Given the description of an element on the screen output the (x, y) to click on. 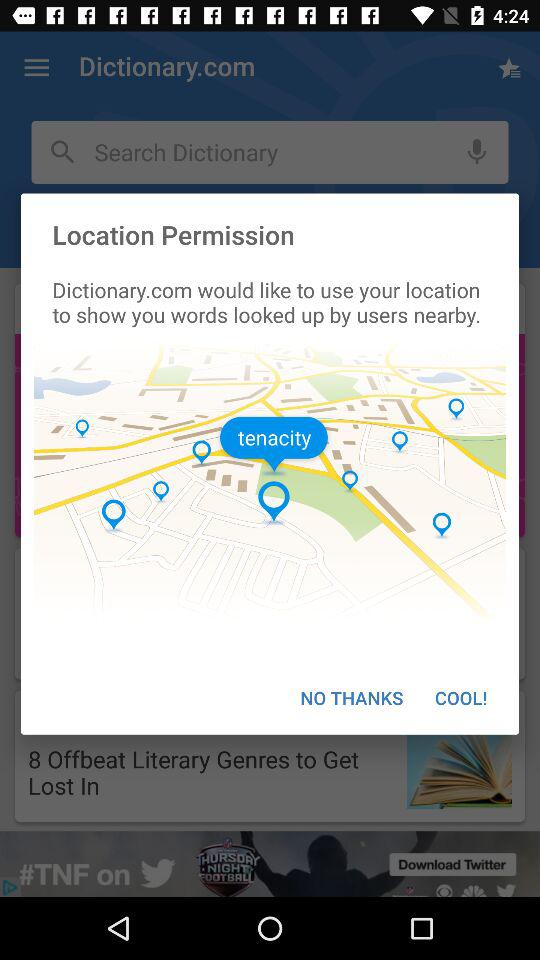
turn off the cool! at the bottom right corner (461, 697)
